Given the description of an element on the screen output the (x, y) to click on. 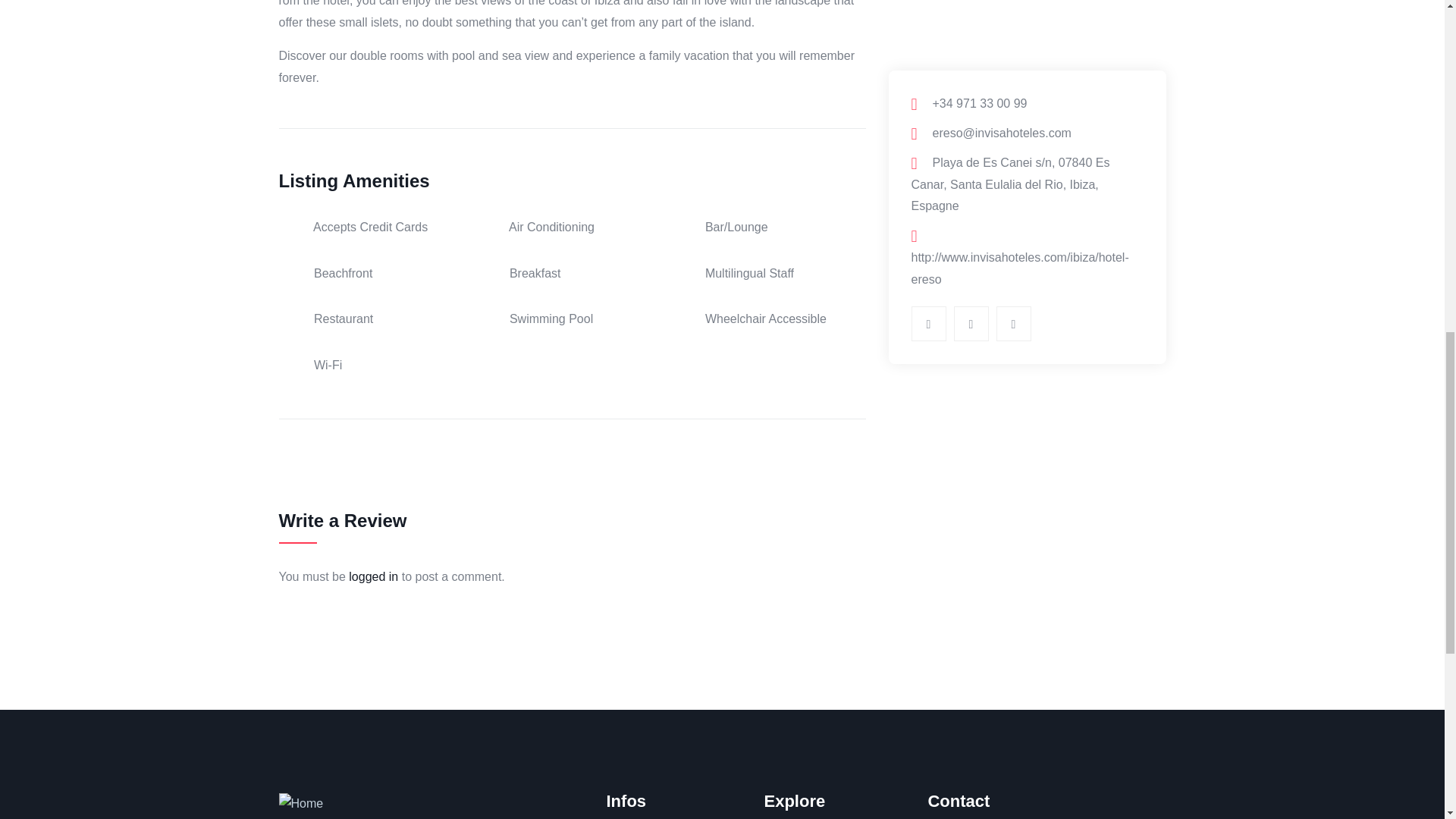
Home (301, 803)
